Given the description of an element on the screen output the (x, y) to click on. 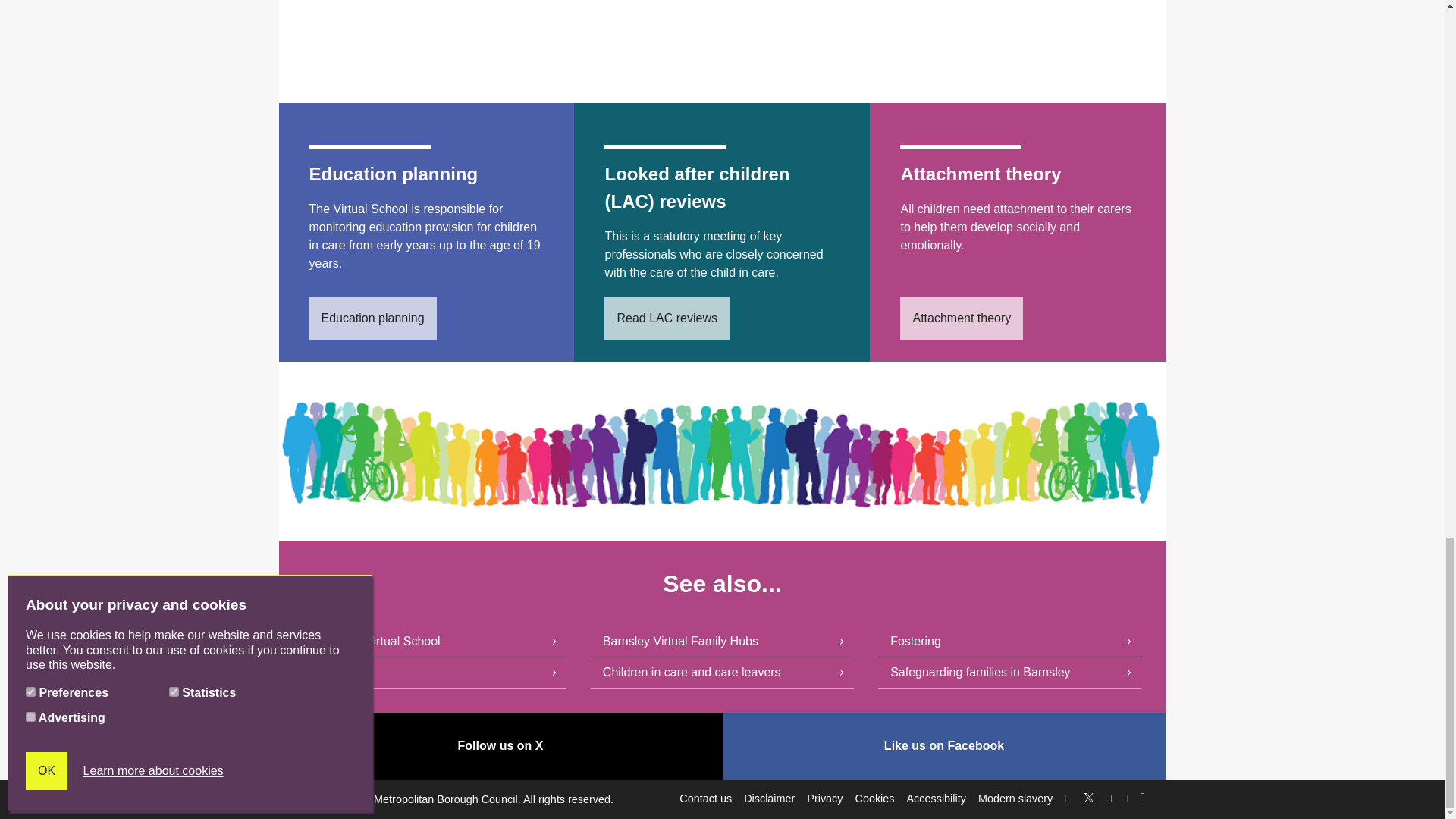
Barnsley Virtual School (434, 641)
Follow us on X (1088, 794)
Barnsley Virtual Family Hubs (722, 641)
Education planning (372, 318)
Read LAC reviews (666, 318)
Follow us on X (500, 745)
Attachment theory (961, 318)
Children in care and care leavers (722, 672)
Attachment theory (961, 318)
Read LAC reviews (666, 318)
